Given the description of an element on the screen output the (x, y) to click on. 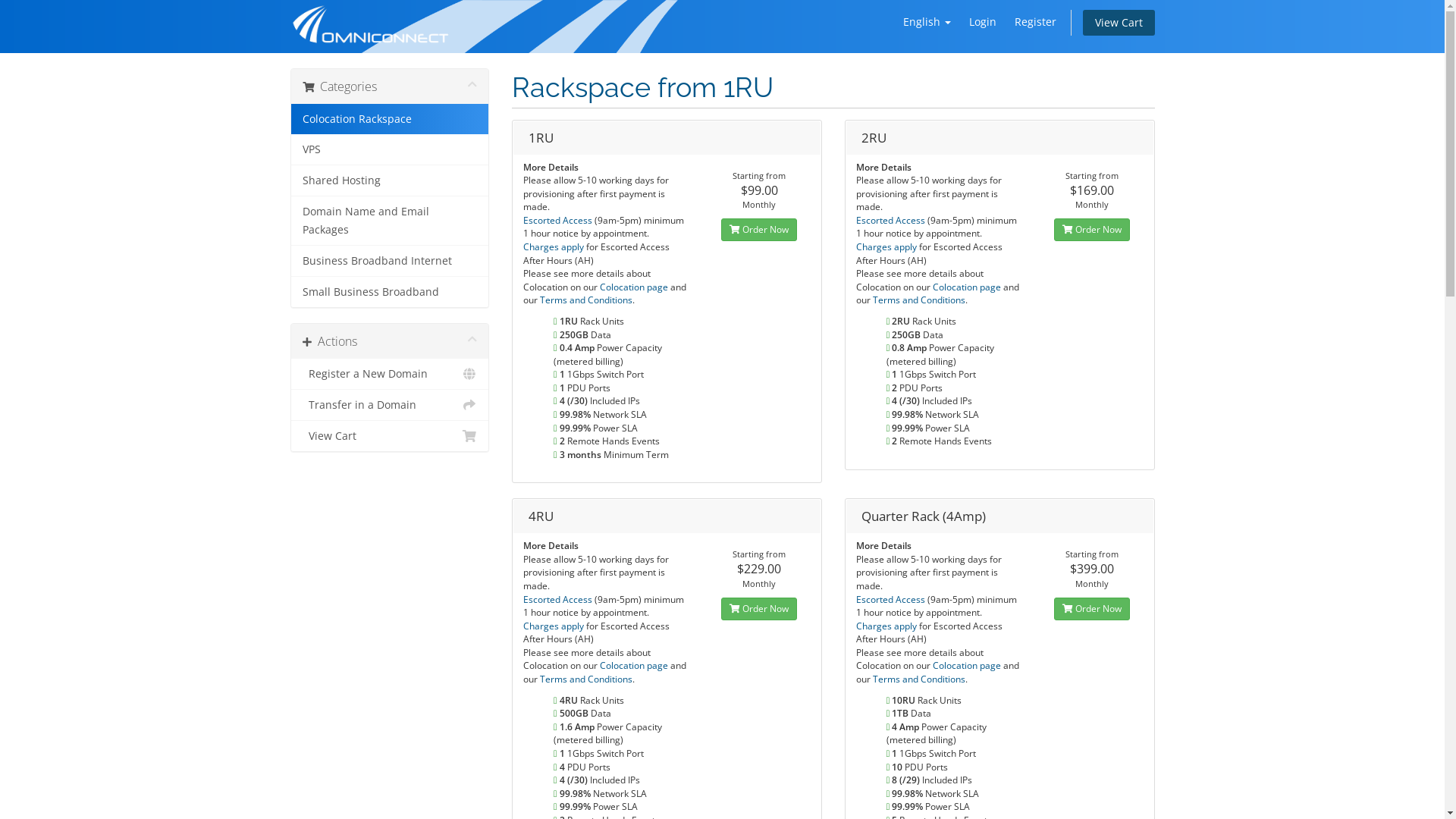
VPS Element type: text (390, 149)
Escorted Access Element type: text (891, 599)
Escorted Access Element type: text (891, 219)
Charges apply Element type: text (887, 246)
Login Element type: text (982, 21)
English Element type: text (925, 21)
Order Now Element type: text (759, 229)
Terms and Conditions Element type: text (585, 299)
Escorted Access Element type: text (558, 599)
  View Cart Element type: text (390, 435)
Terms and Conditions Element type: text (918, 299)
Charges apply Element type: text (887, 625)
Colocation Rackspace Element type: text (390, 118)
  Transfer in a Domain Element type: text (390, 404)
Business Broadband Internet Element type: text (390, 260)
View Cart Element type: text (1118, 22)
Domain Name and Email Packages Element type: text (390, 220)
Order Now Element type: text (759, 608)
Colocation page Element type: text (634, 286)
  Register a New Domain Element type: text (390, 373)
Order Now Element type: text (1091, 229)
Terms and Conditions Element type: text (585, 678)
Colocation page Element type: text (967, 664)
Shared Hosting Element type: text (390, 180)
Register Element type: text (1035, 21)
Charges apply Element type: text (554, 625)
Escorted Access Element type: text (558, 219)
Small Business Broadband Element type: text (390, 291)
Colocation page Element type: text (634, 664)
Order Now Element type: text (1091, 608)
Charges apply Element type: text (554, 246)
Colocation page Element type: text (967, 286)
Terms and Conditions Element type: text (918, 678)
